Given the description of an element on the screen output the (x, y) to click on. 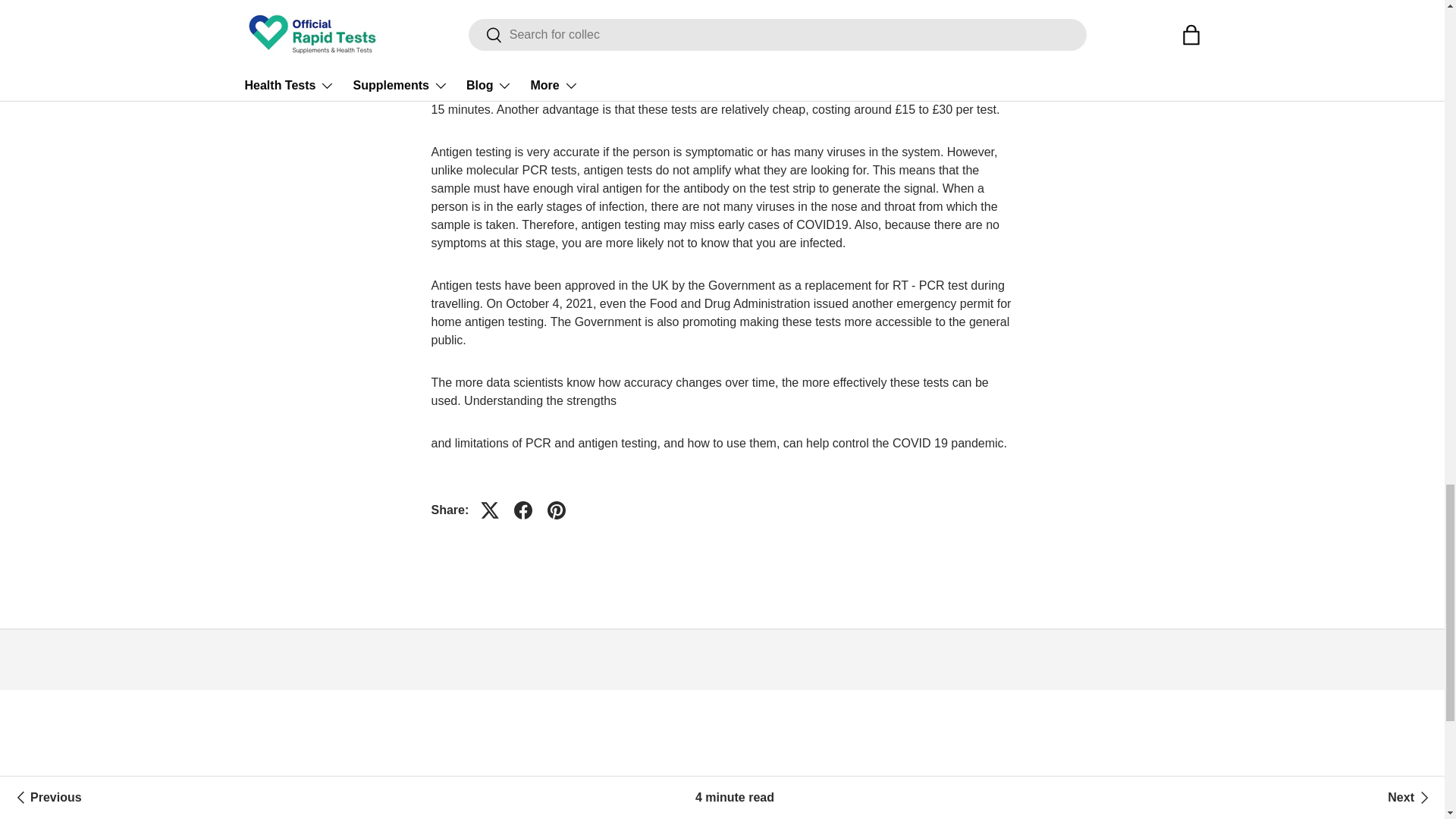
Tweet on X (489, 510)
Pin on Pinterest (556, 510)
Share on Facebook (523, 510)
